Given the description of an element on the screen output the (x, y) to click on. 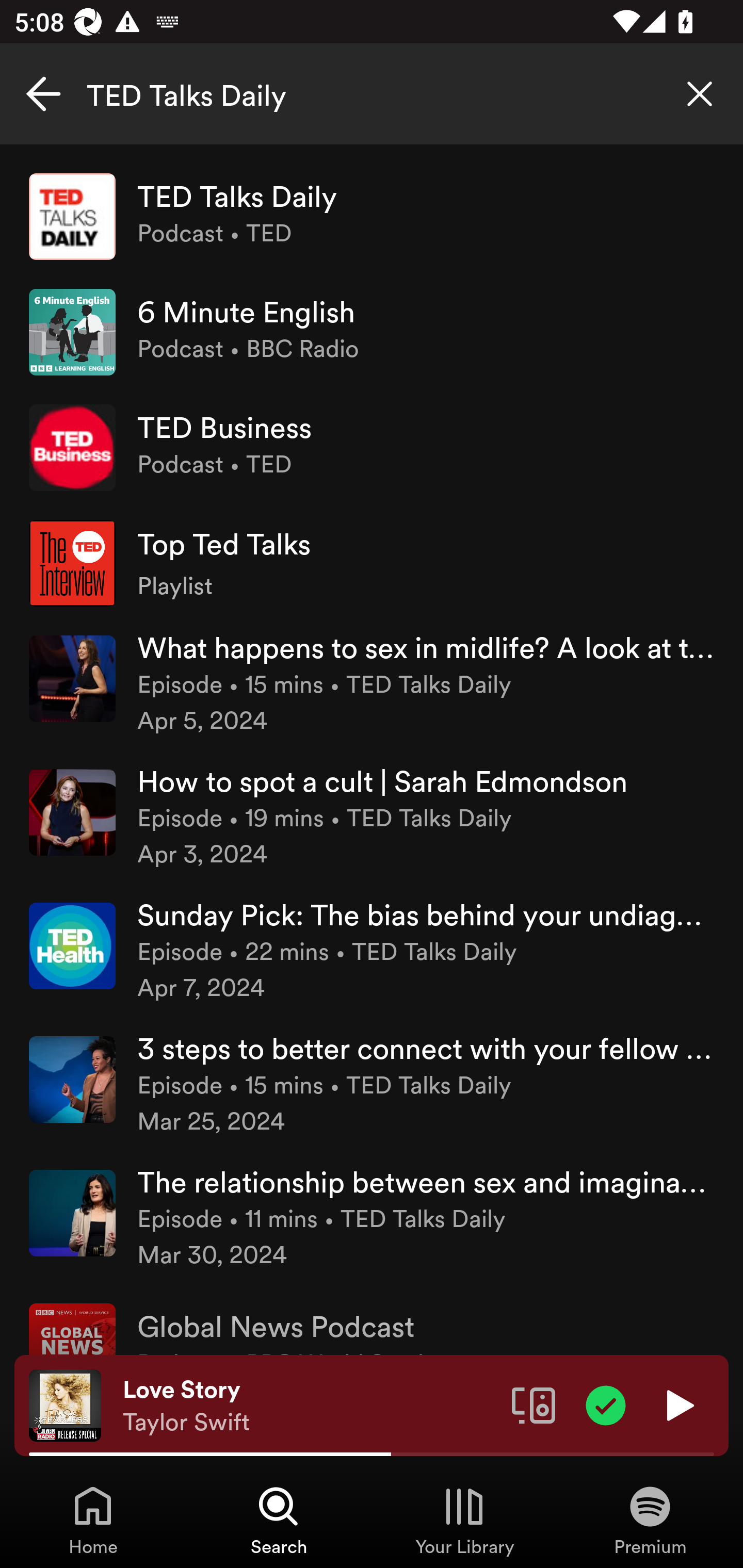
TED Talks Daily (371, 93)
Cancel (43, 93)
Clear search query (699, 93)
TED Talks Daily Podcast • TED (371, 216)
6 Minute English Podcast • BBC Radio (371, 332)
TED Business Podcast • TED (371, 447)
Top Ted Talks Playlist (371, 562)
Global News Podcast Podcast • BBC World Service (371, 1321)
Love Story Taylor Swift (309, 1405)
The cover art of the currently playing track (64, 1404)
Connect to a device. Opens the devices menu (533, 1404)
Item added (605, 1404)
Play (677, 1404)
Home, Tab 1 of 4 Home Home (92, 1519)
Search, Tab 2 of 4 Search Search (278, 1519)
Your Library, Tab 3 of 4 Your Library Your Library (464, 1519)
Premium, Tab 4 of 4 Premium Premium (650, 1519)
